Given the description of an element on the screen output the (x, y) to click on. 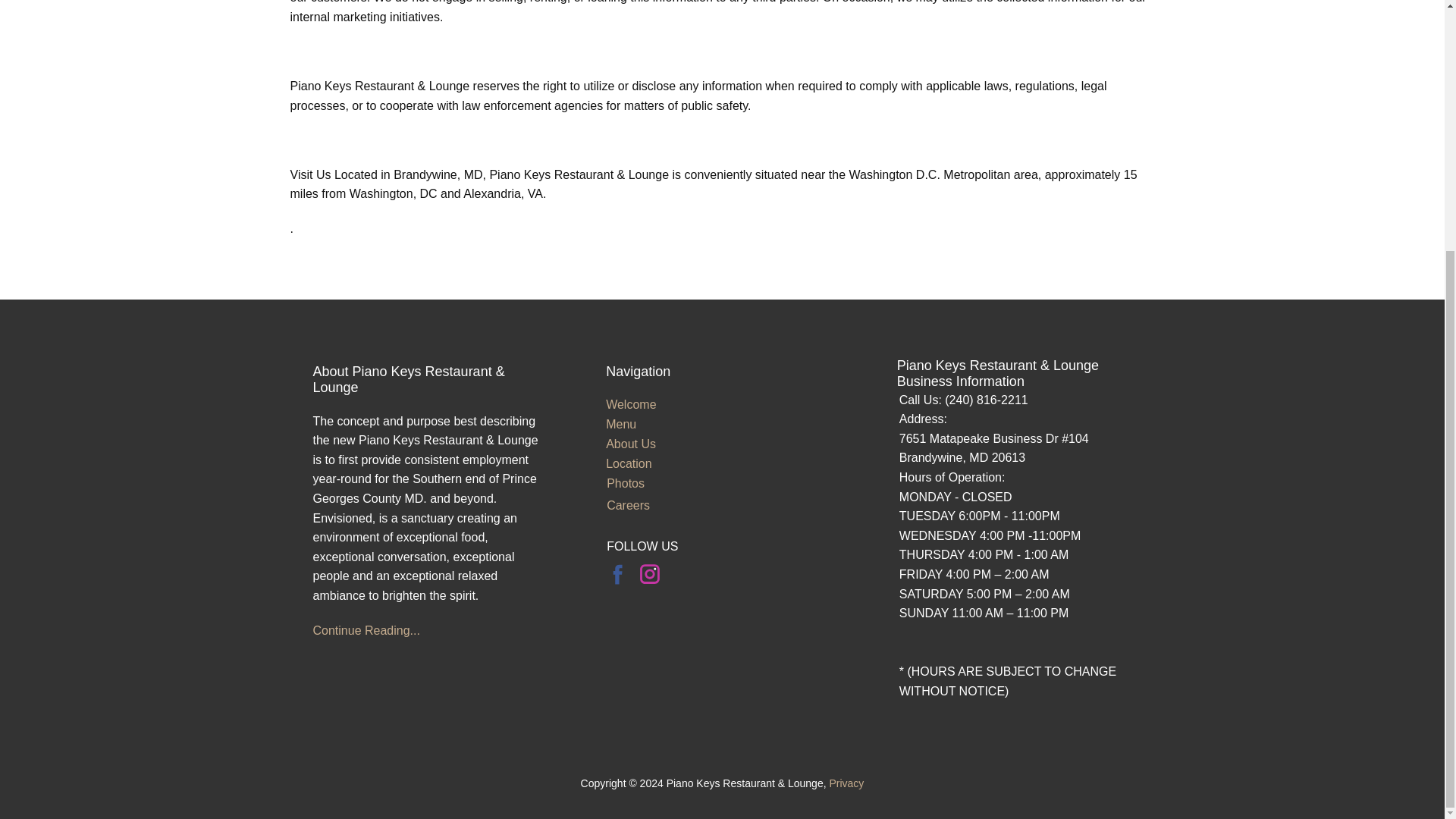
Privacy (845, 783)
About Us (630, 443)
Location (628, 463)
facebook (617, 573)
Careers (628, 504)
Photos (626, 482)
Welcome (630, 404)
instagram (649, 573)
Continue Reading... (366, 630)
Menu (620, 423)
